Given the description of an element on the screen output the (x, y) to click on. 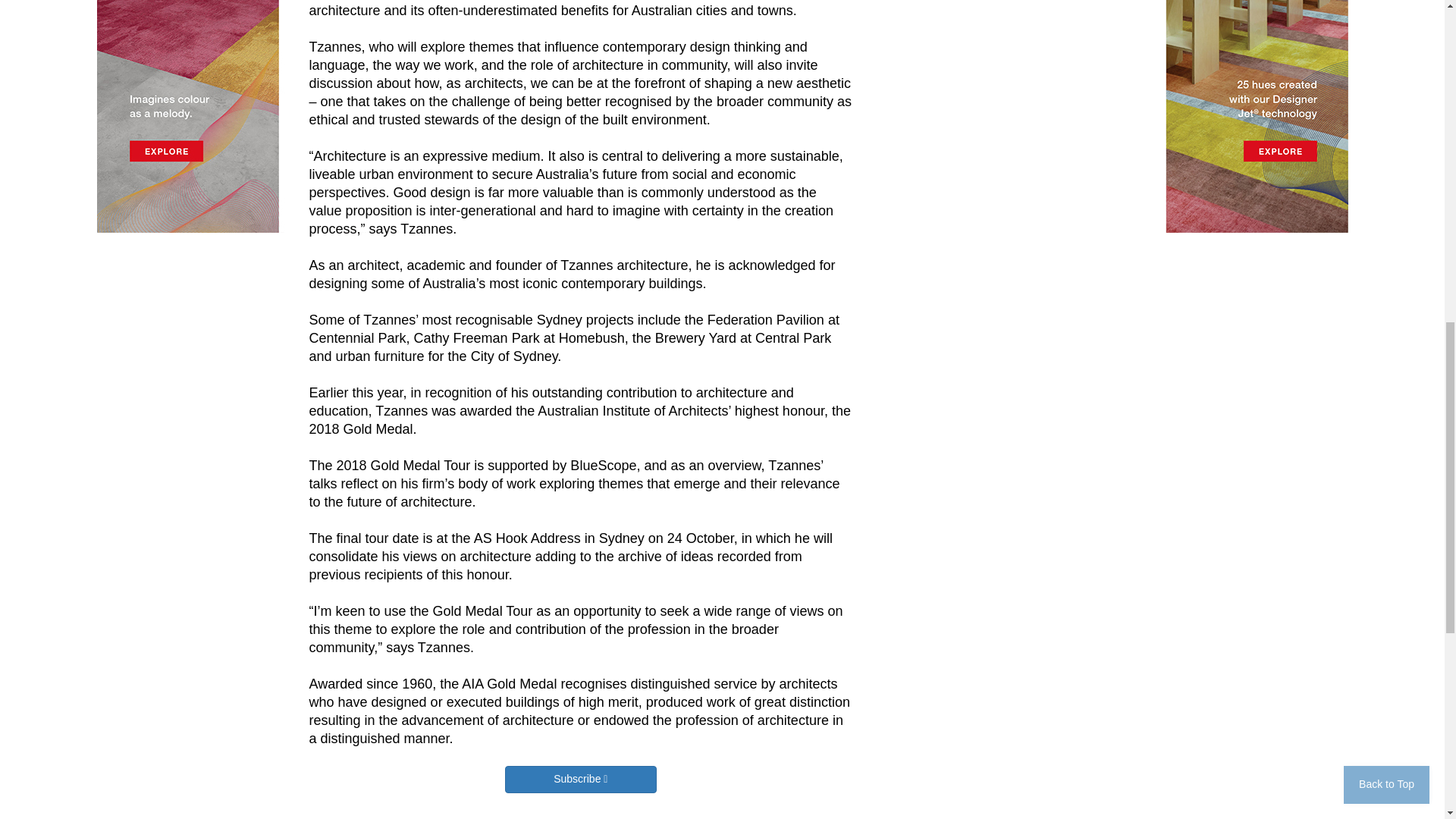
3rd party ad content (1011, 279)
3rd party ad content (1011, 84)
3rd party ad content (1011, 484)
